Given the description of an element on the screen output the (x, y) to click on. 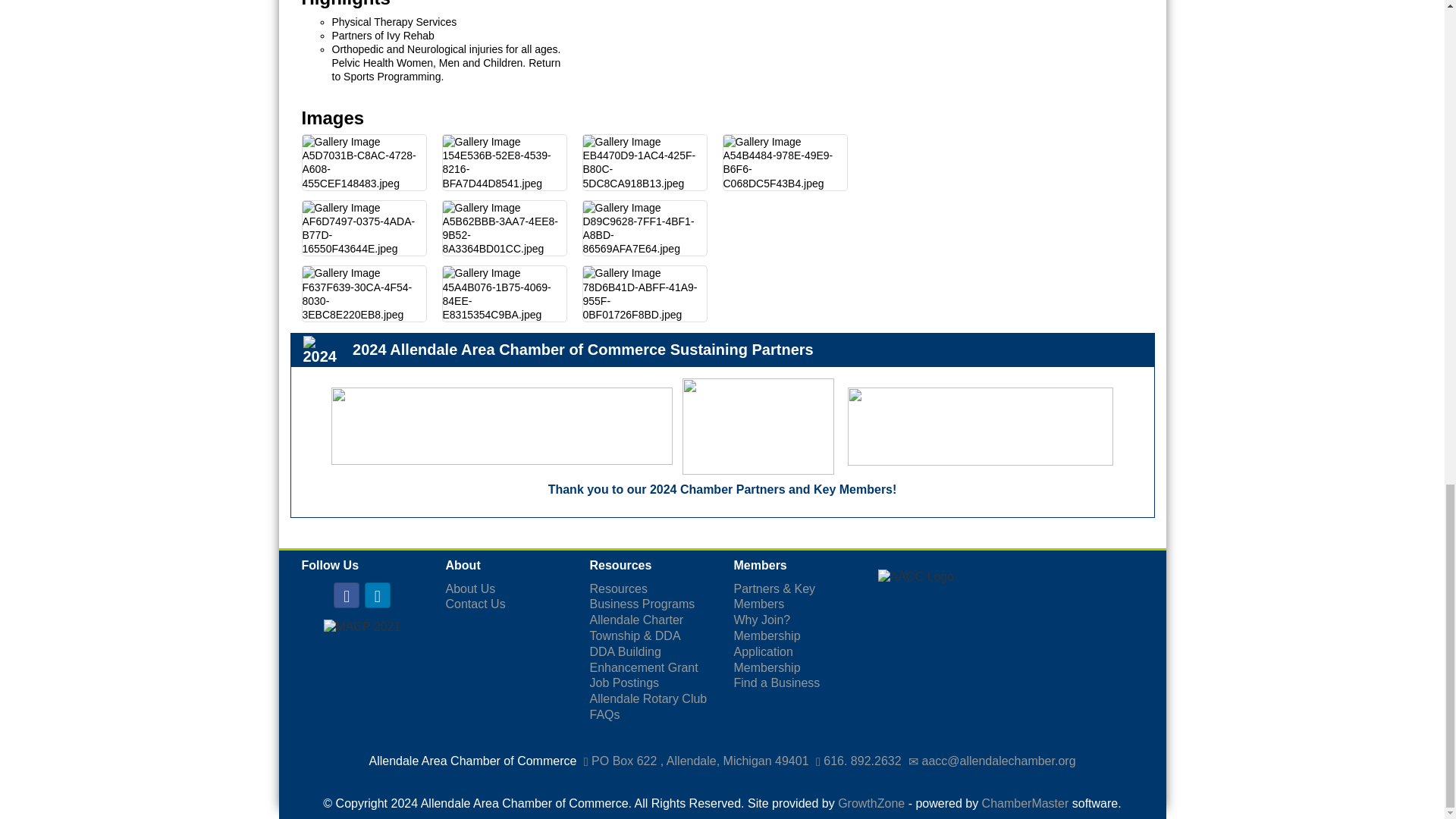
Gallery Image AF6D7497-0375-4ADA-B77D-16550F43644E.jpeg (363, 228)
Gallery Image A5B62BBB-3AA7-4EE8-9B52-8A3364BD01CC.jpeg (504, 228)
Gallery Image F637F639-30CA-4F54-8030-3EBC8E220EB8.jpeg (363, 293)
Gallery Image A5D7031B-C8AC-4728-A608-455CEF148483.jpeg (363, 162)
Gallery Image 154E536B-52E8-4539-8216-BFA7D44D8541.jpeg (504, 162)
